Given the description of an element on the screen output the (x, y) to click on. 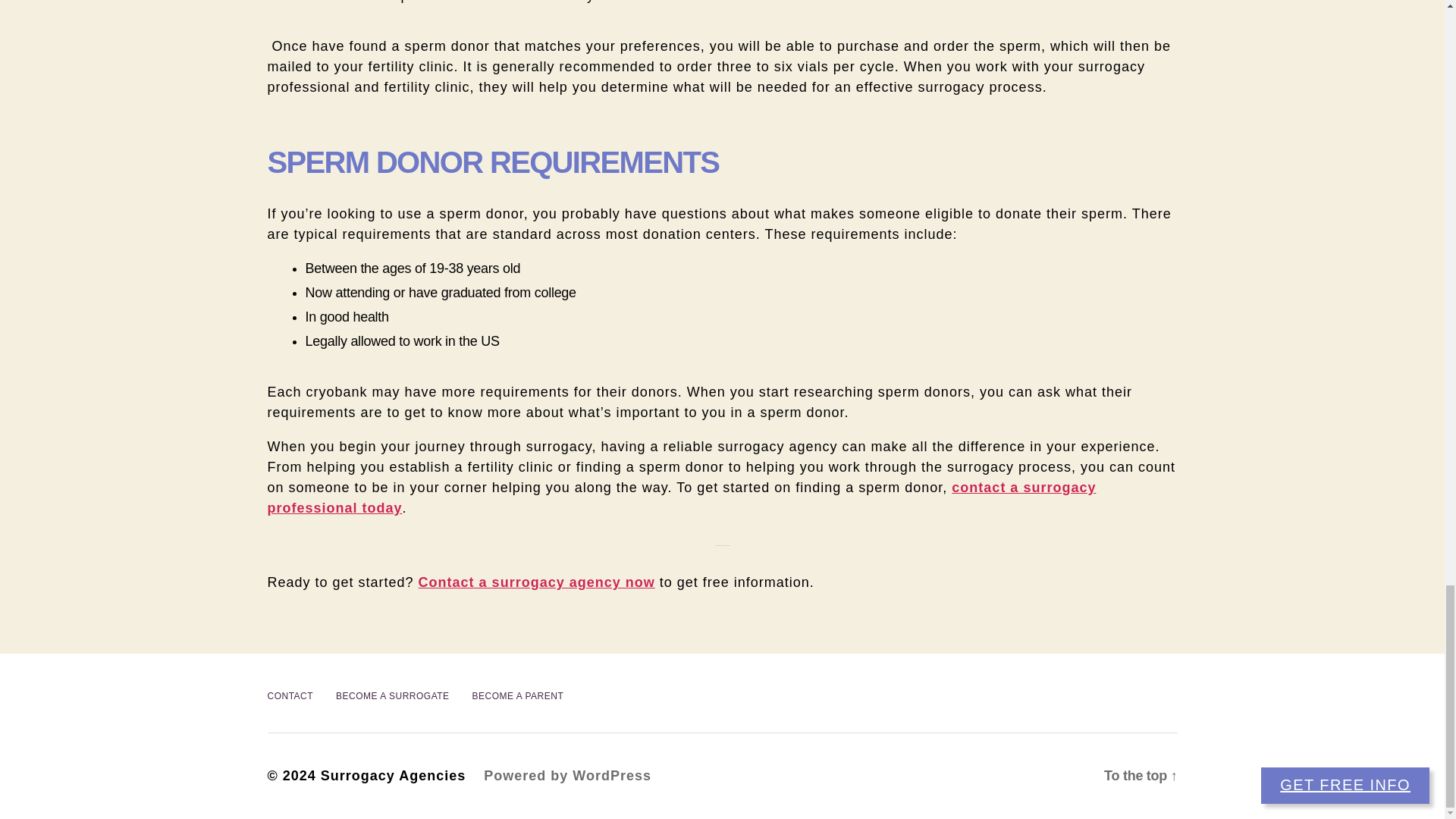
Powered by WordPress (566, 775)
BECOME A PARENT (517, 696)
Contact a surrogacy agency now (537, 581)
contact a surrogacy professional today (681, 497)
BECOME A SURROGATE (392, 696)
CONTACT (289, 696)
Surrogacy Agencies (392, 775)
